Given the description of an element on the screen output the (x, y) to click on. 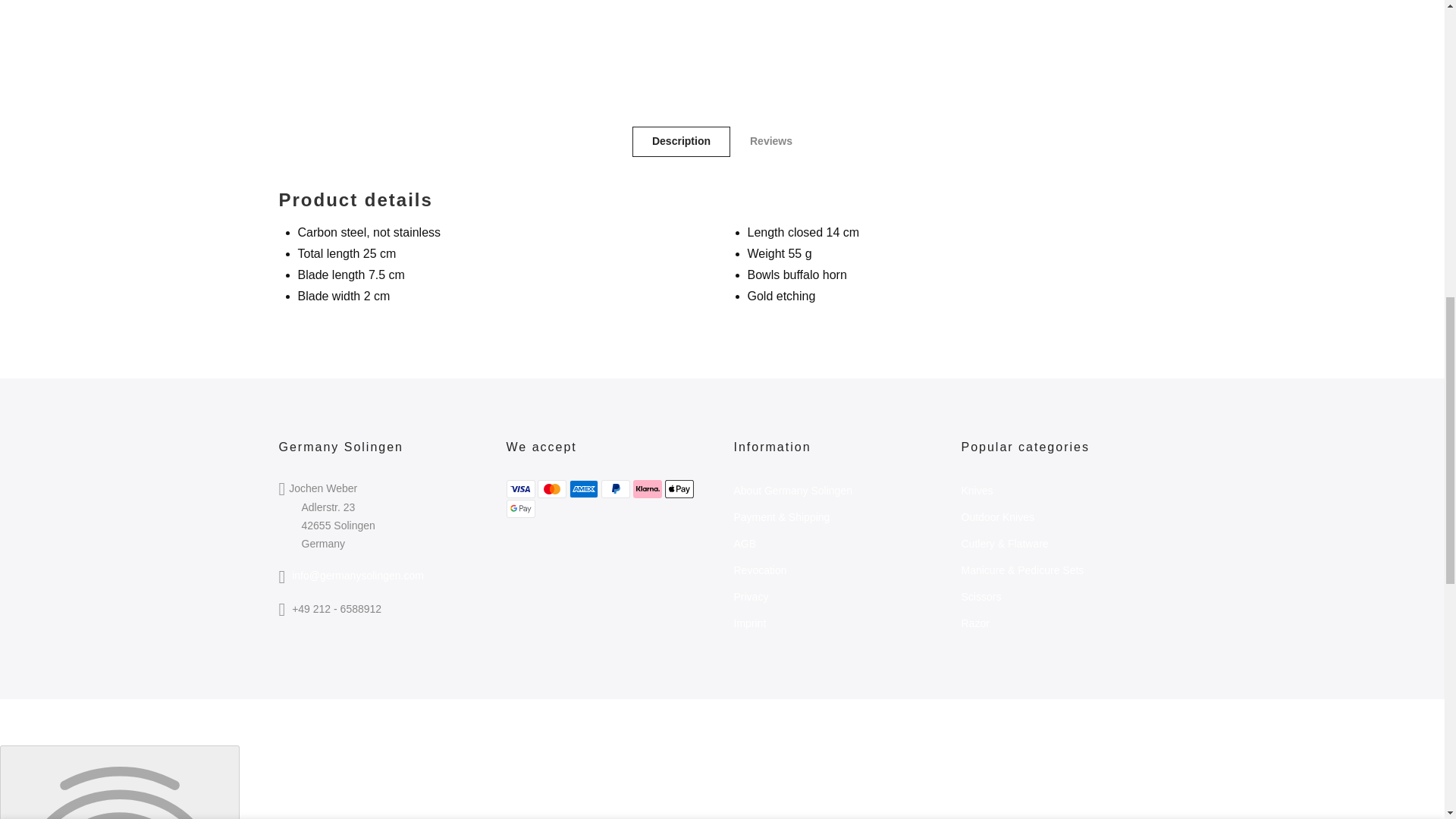
1 (943, 35)
